Given the description of an element on the screen output the (x, y) to click on. 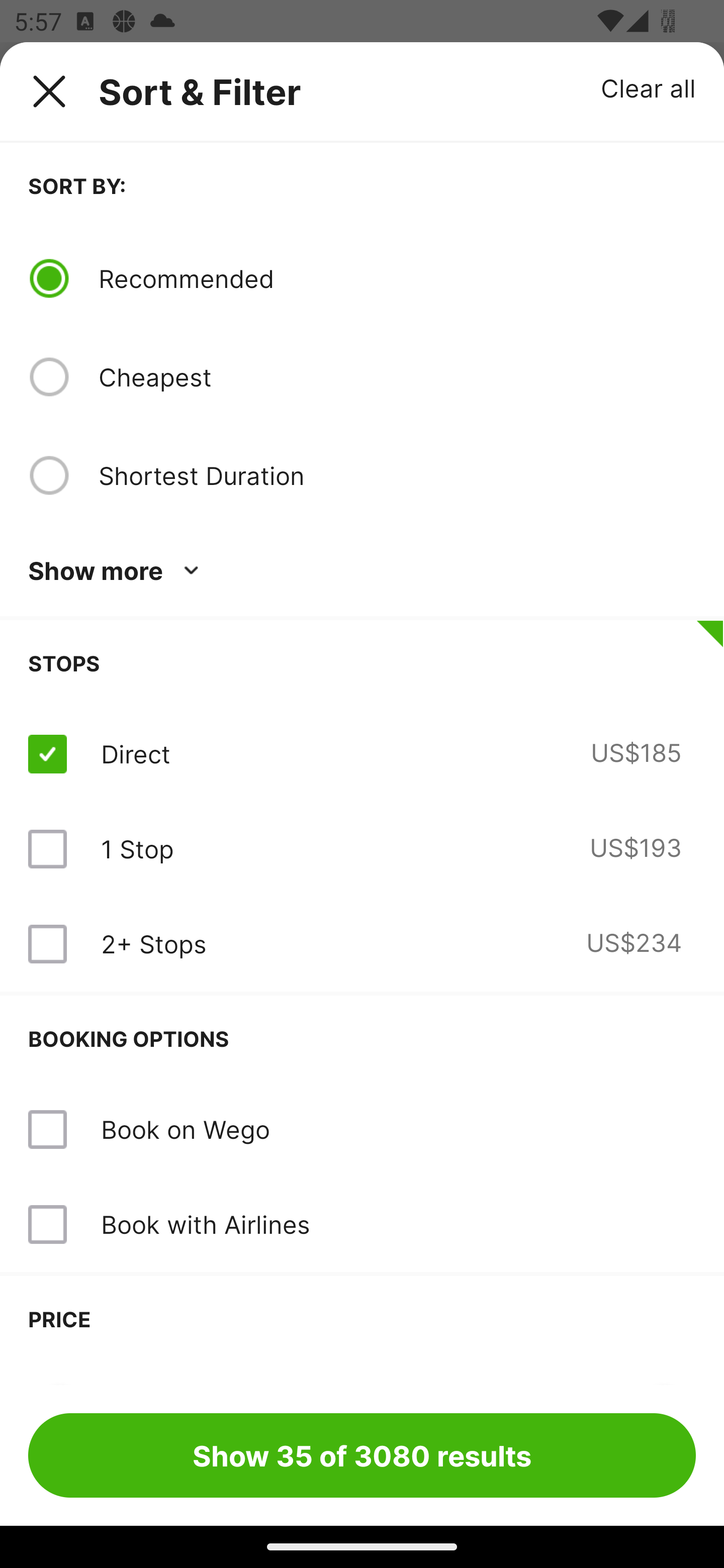
Clear all (648, 87)
Recommended  (396, 278)
Cheapest (396, 377)
Shortest Duration (396, 474)
Show more (116, 570)
Direct US$185 (362, 754)
Direct (135, 753)
1 Stop US$193 (362, 848)
1 Stop (136, 849)
2+ Stops US$234 (362, 943)
2+ Stops (153, 943)
Book on Wego (362, 1129)
Book on Wego (184, 1128)
Book with Airlines (362, 1224)
Book with Airlines (204, 1224)
Show 35 of 3080 results (361, 1454)
